Given the description of an element on the screen output the (x, y) to click on. 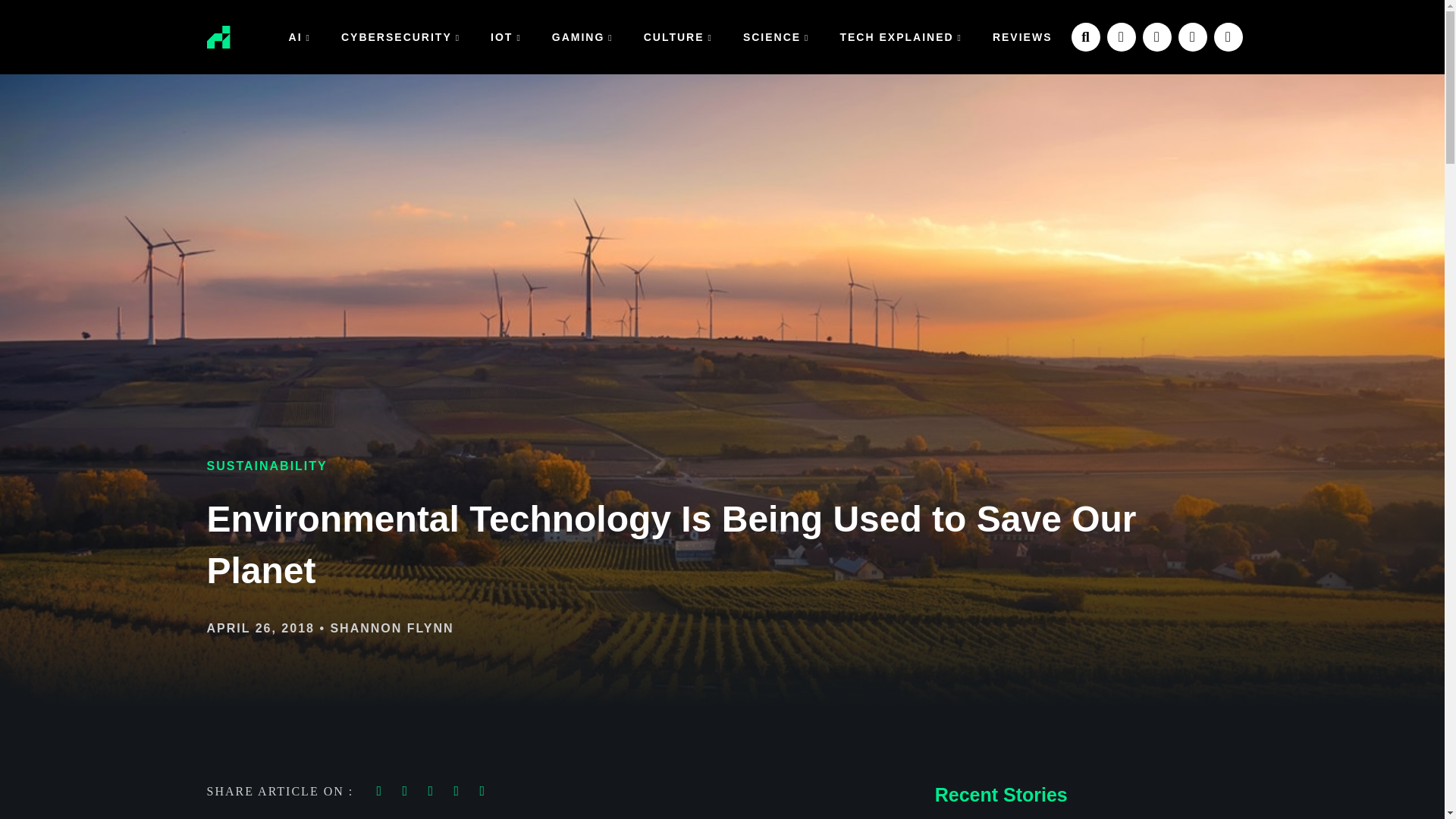
SHANNON FLYNN (391, 627)
rehack-logo (218, 36)
CULTURE (678, 36)
CYBERSECURITY (401, 36)
IOT (506, 36)
SUSTAINABILITY (266, 465)
TECH EXPLAINED (900, 36)
GAMING (582, 36)
AI (299, 36)
SCIENCE (776, 36)
